Given the description of an element on the screen output the (x, y) to click on. 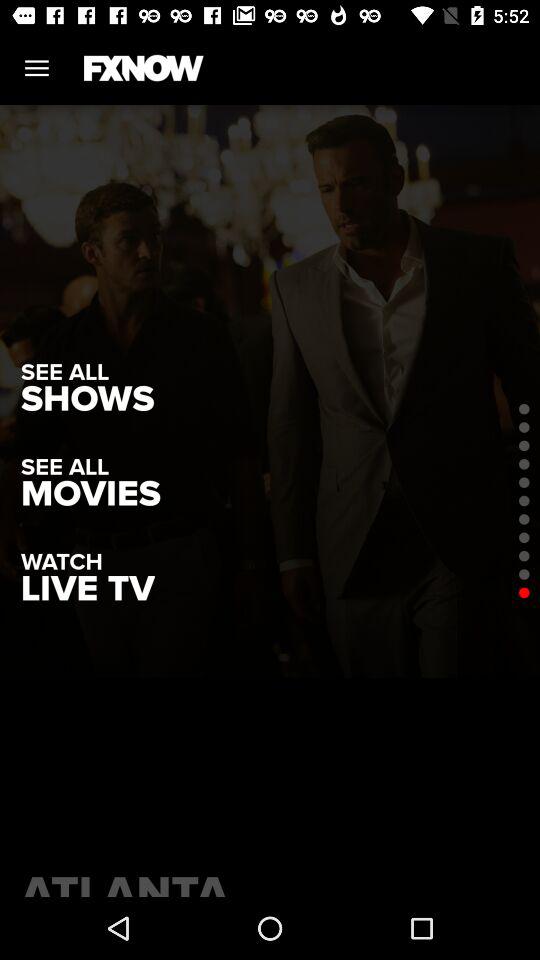
swipe until the movies (90, 493)
